Given the description of an element on the screen output the (x, y) to click on. 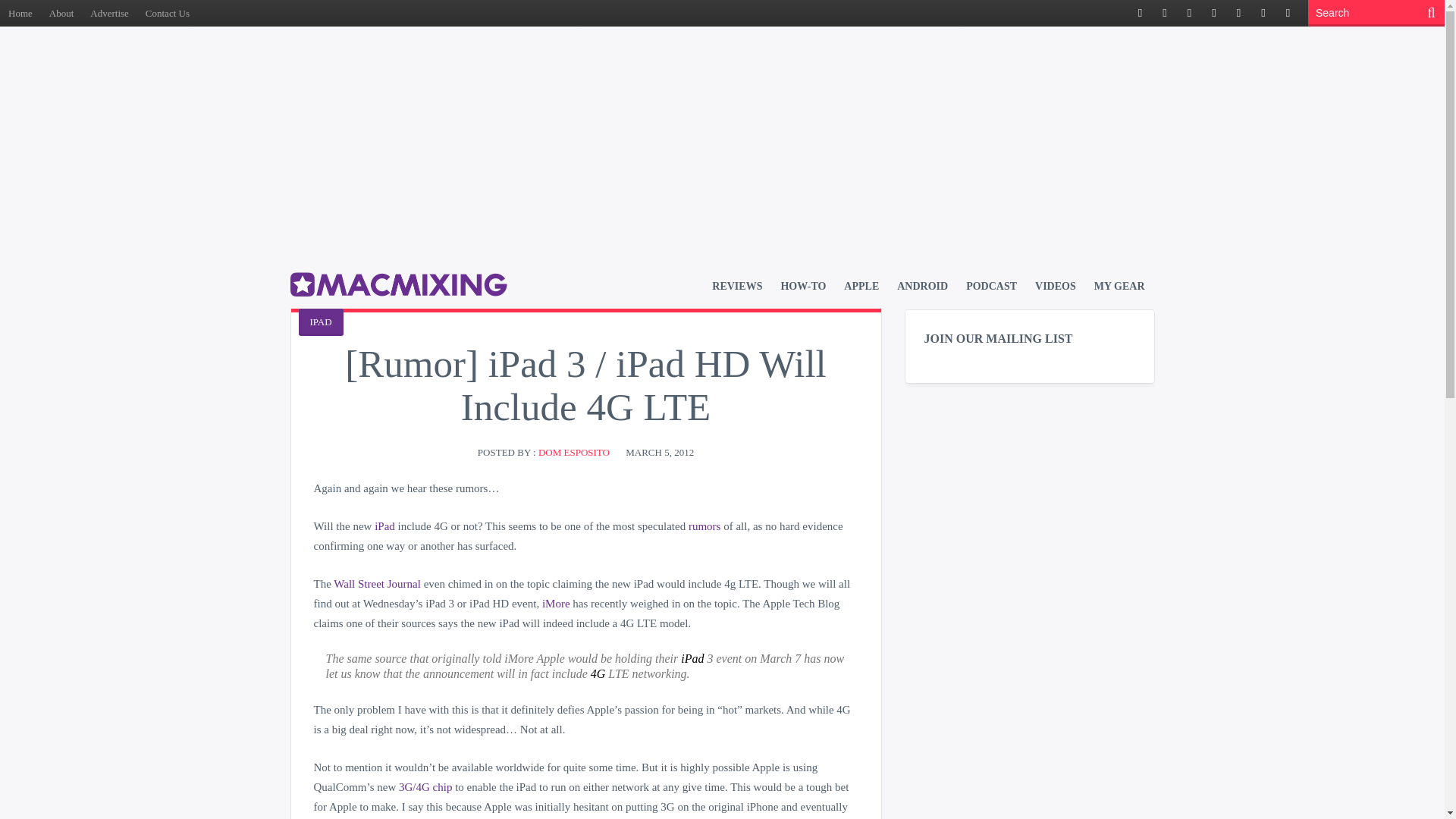
REVIEWS (736, 285)
Search (1364, 13)
Youtube (1263, 13)
Rss (1188, 13)
Advertisement (721, 91)
About (61, 13)
Twitter (1165, 13)
LinkedIn (1238, 13)
instagram (1287, 13)
Facebook (1140, 13)
Posts by Dom Esposito (574, 451)
Home (20, 13)
Advertise (108, 13)
HOW-TO (802, 285)
Contact Us (167, 13)
